Given the description of an element on the screen output the (x, y) to click on. 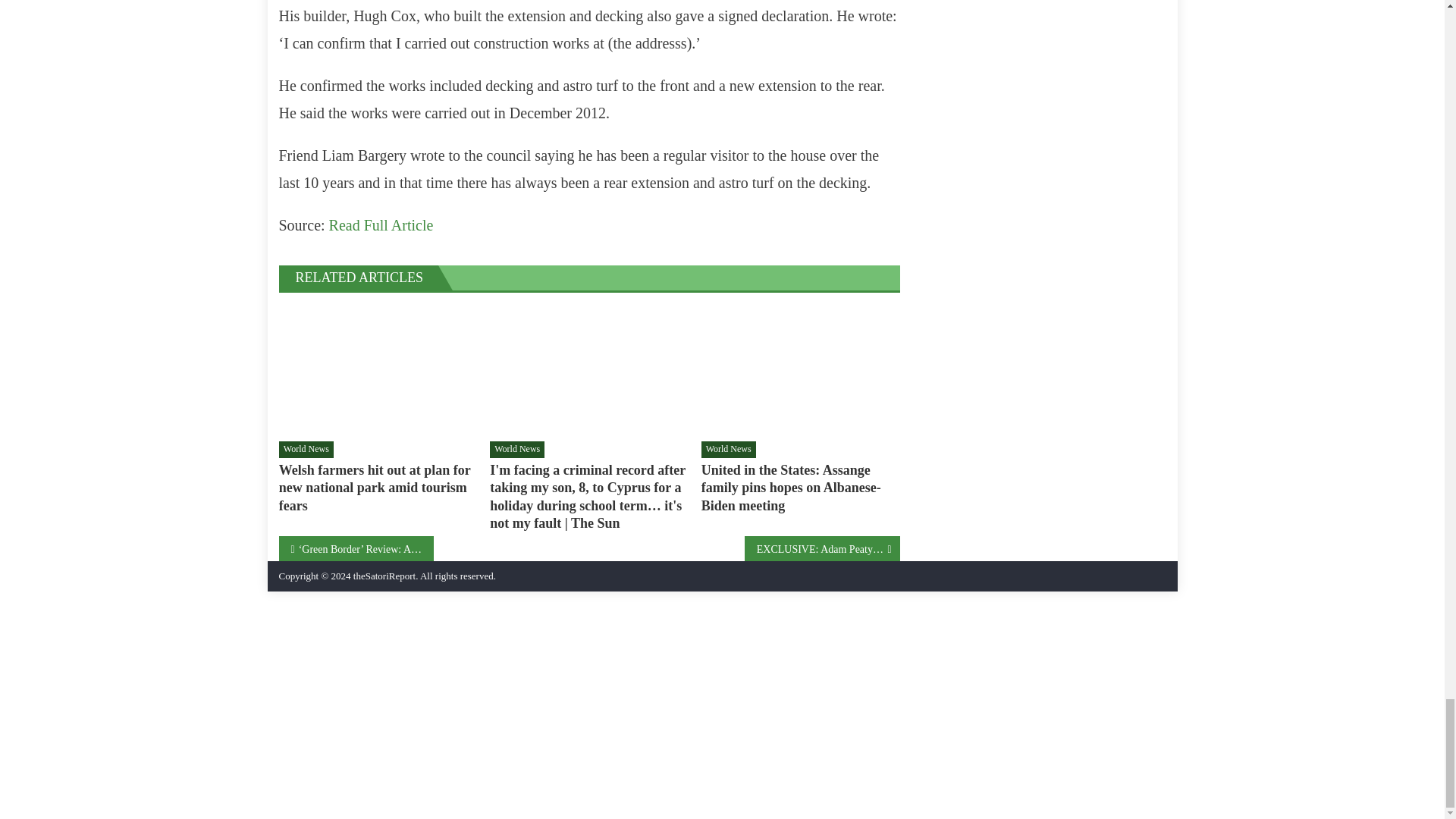
World News (516, 449)
World News (728, 449)
Read Full Article (381, 225)
theSatoriReport (383, 575)
World News (306, 449)
theSatoriReport (383, 575)
